Given the description of an element on the screen output the (x, y) to click on. 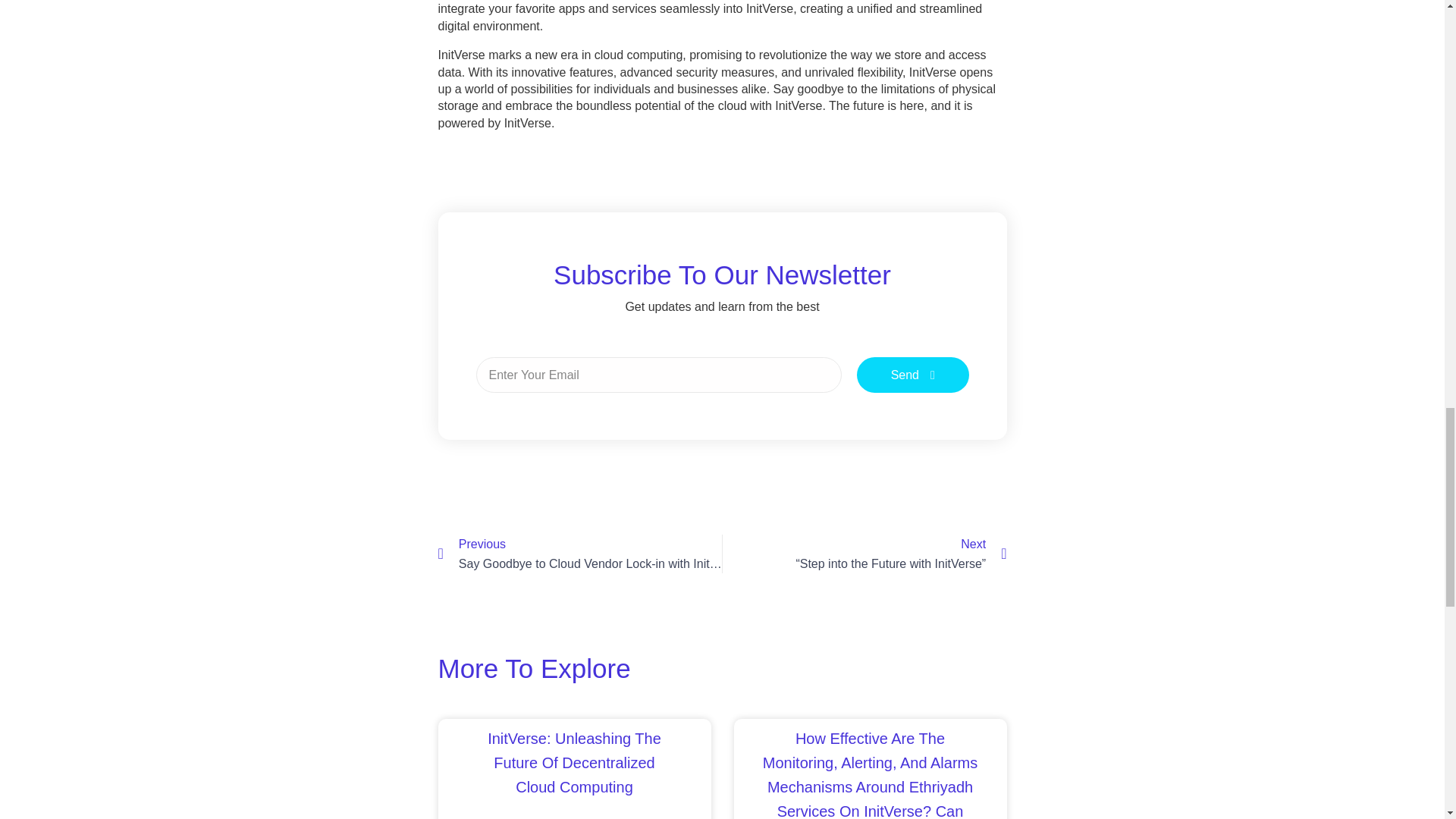
Send (913, 375)
